Given the description of an element on the screen output the (x, y) to click on. 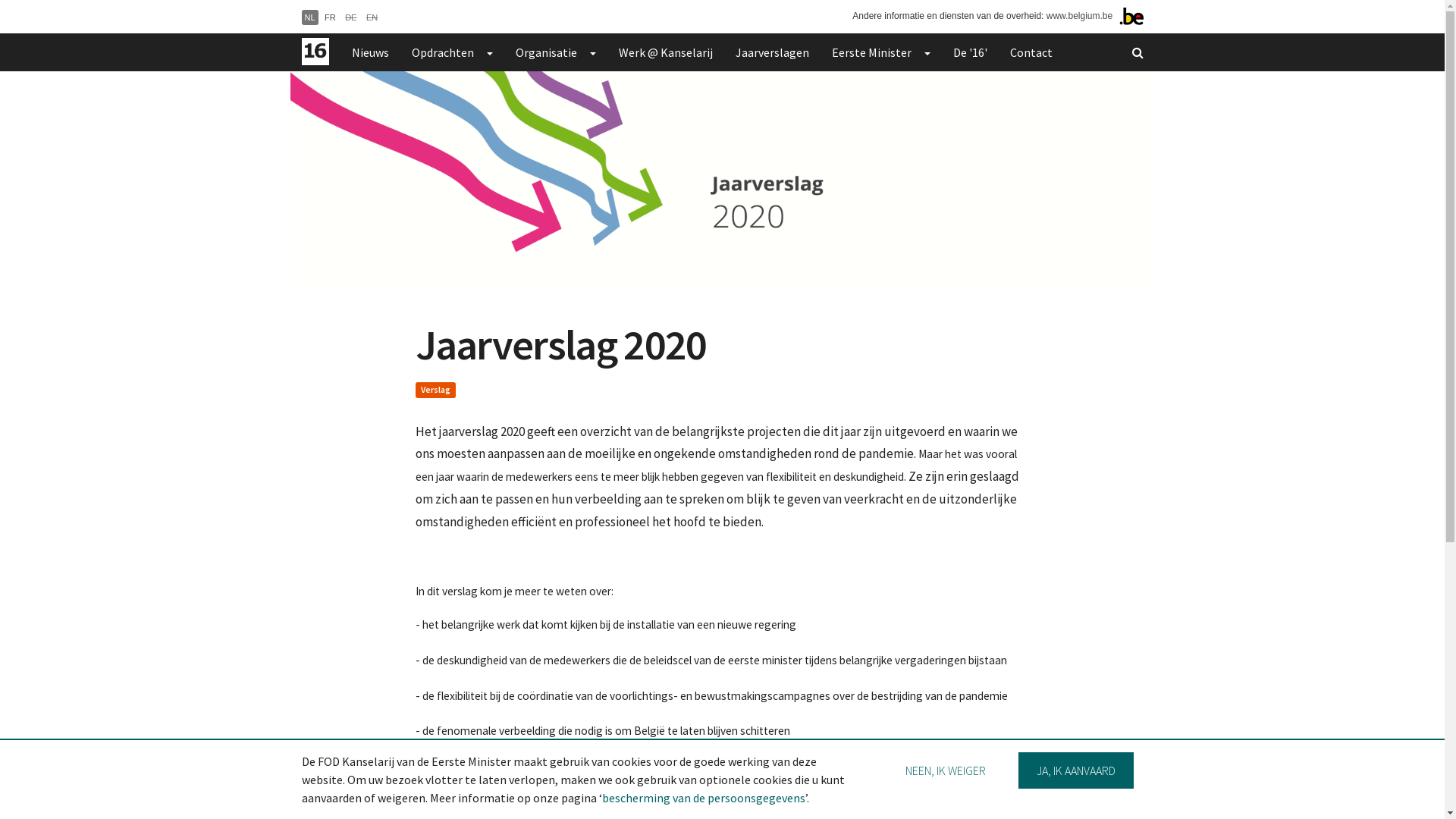
Home Element type: hover (314, 51)
Jaarverslagen Element type: text (771, 52)
Overslaan en naar de inhoud gaan Element type: text (0, 0)
FR Element type: text (329, 17)
Eerste Minister Element type: text (865, 52)
www.belgium.be Element type: text (1079, 15)
Organisatie Element type: text (539, 52)
Open Opdrachten Submenu Element type: text (488, 52)
NEEN, IK WEIGER Element type: text (945, 770)
Open Organisatie Submenu Element type: text (591, 52)
NL Element type: text (309, 17)
JA, IK AANVAARD Element type: text (1075, 770)
De '16' Element type: text (969, 52)
Zoeken Element type: text (1137, 52)
Opdrachten Element type: text (436, 52)
Nieuws Element type: text (369, 52)
bescherming van de persoonsgegevens Element type: text (703, 797)
Werk @ Kanselarij Element type: text (664, 52)
Open Eerste Minister Submenu Element type: text (926, 52)
Contact Element type: text (1030, 52)
